Given the description of an element on the screen output the (x, y) to click on. 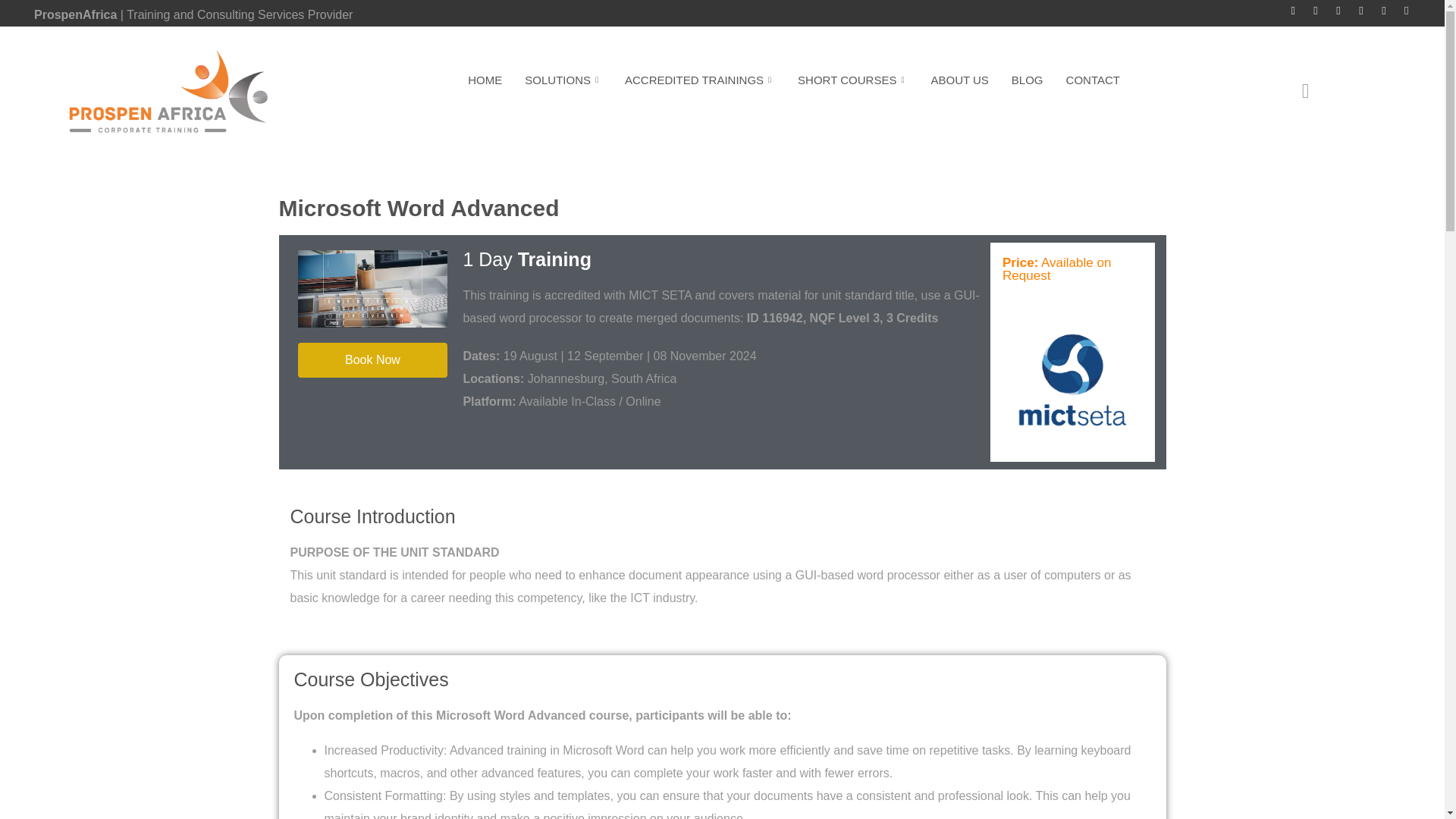
HOME (485, 79)
SOLUTIONS (562, 79)
ACCREDITED TRAININGS (699, 79)
